Given the description of an element on the screen output the (x, y) to click on. 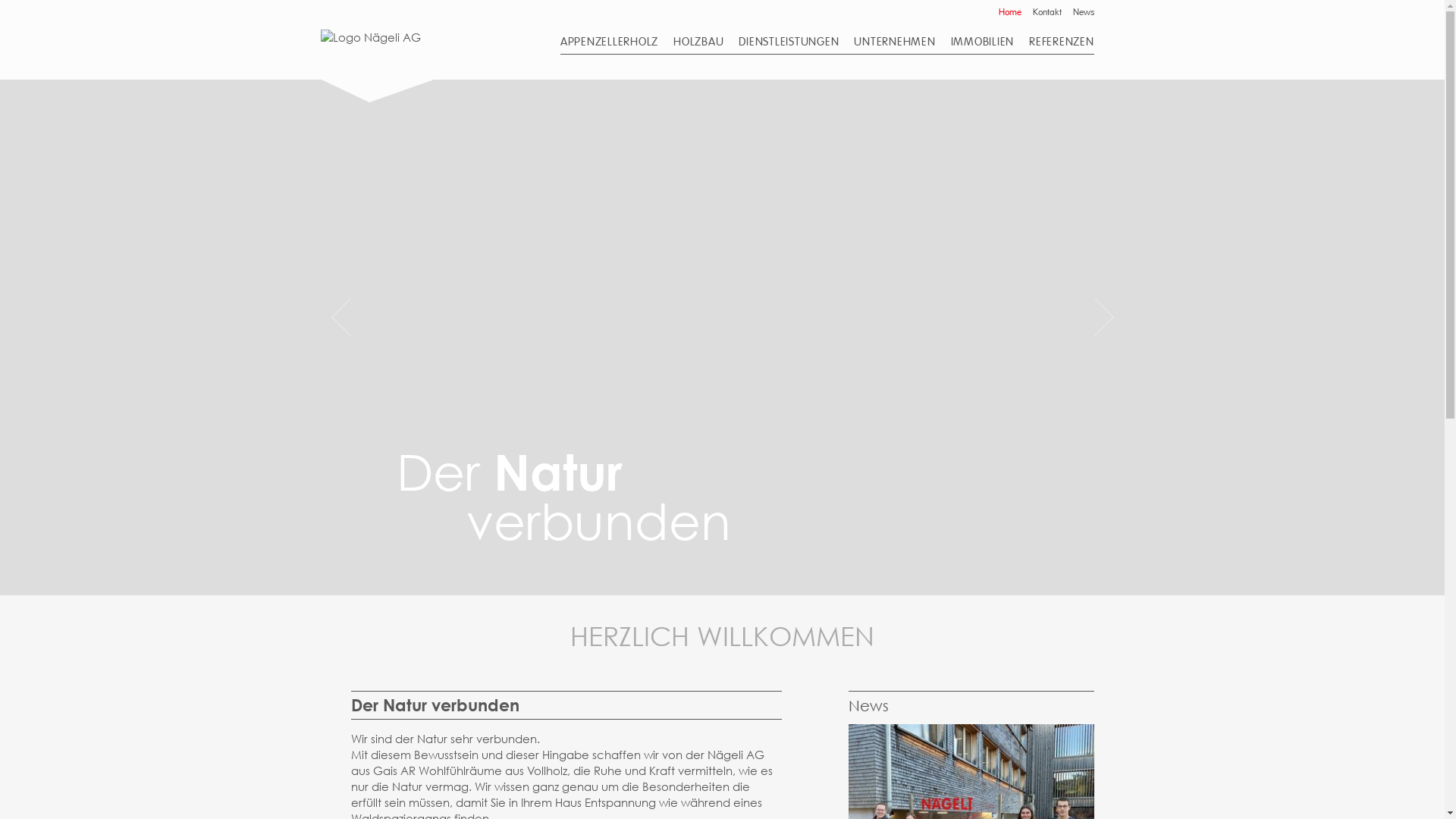
Home Element type: text (1008, 12)
HOLZBAU Element type: text (698, 41)
News Element type: text (1082, 12)
APPENZELLERHOLZ Element type: text (609, 41)
DIENSTLEISTUNGEN Element type: text (788, 41)
Home Element type: hover (370, 36)
REFERENZEN Element type: text (1061, 41)
Kontakt Element type: text (1046, 12)
IMMOBILIEN Element type: text (982, 41)
UNTERNEHMEN Element type: text (894, 41)
